Given the description of an element on the screen output the (x, y) to click on. 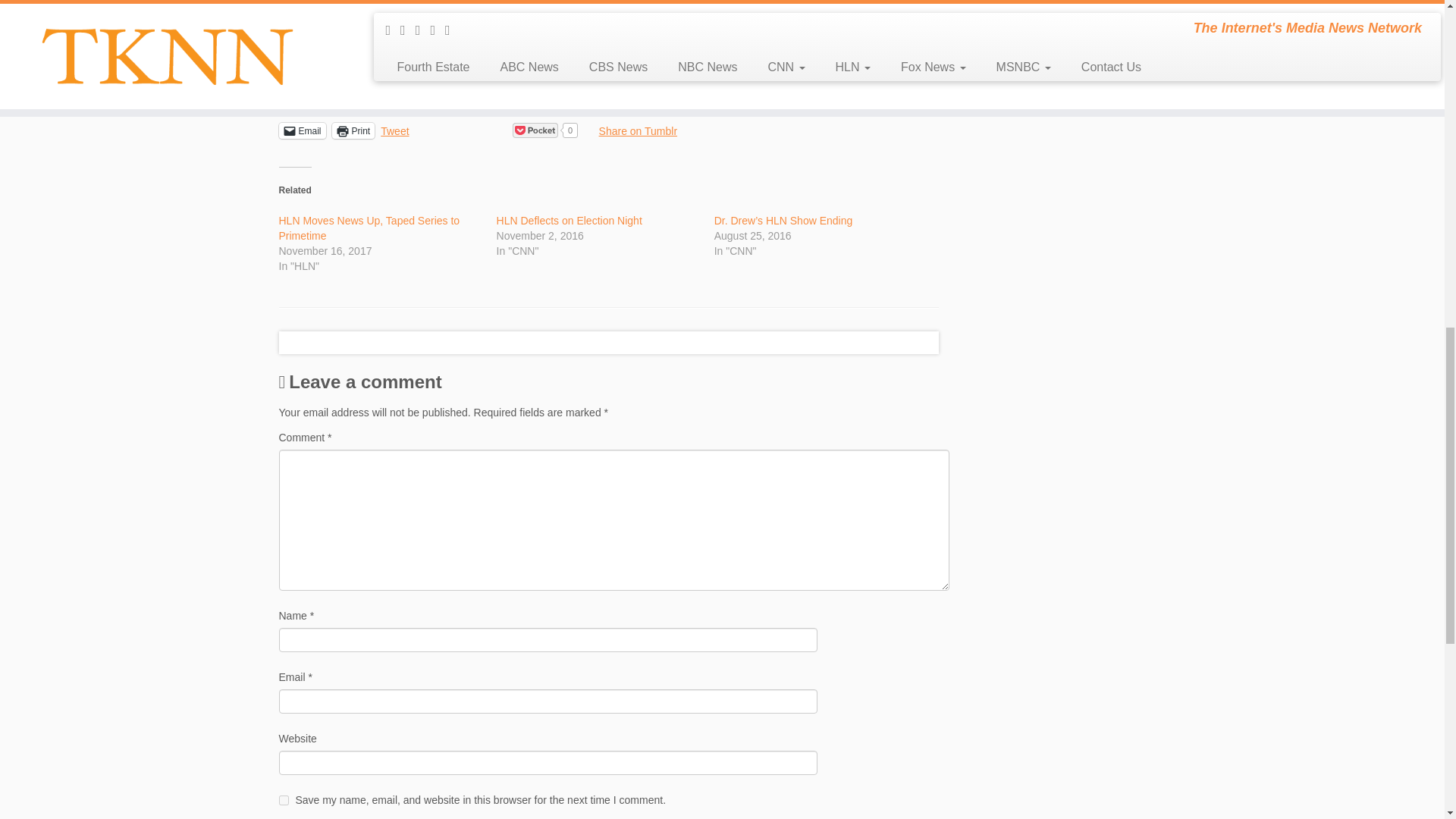
Print (353, 130)
Email (302, 130)
jumped (667, 59)
yes (283, 800)
return (469, 75)
aired (472, 33)
Tweet (394, 129)
